Given the description of an element on the screen output the (x, y) to click on. 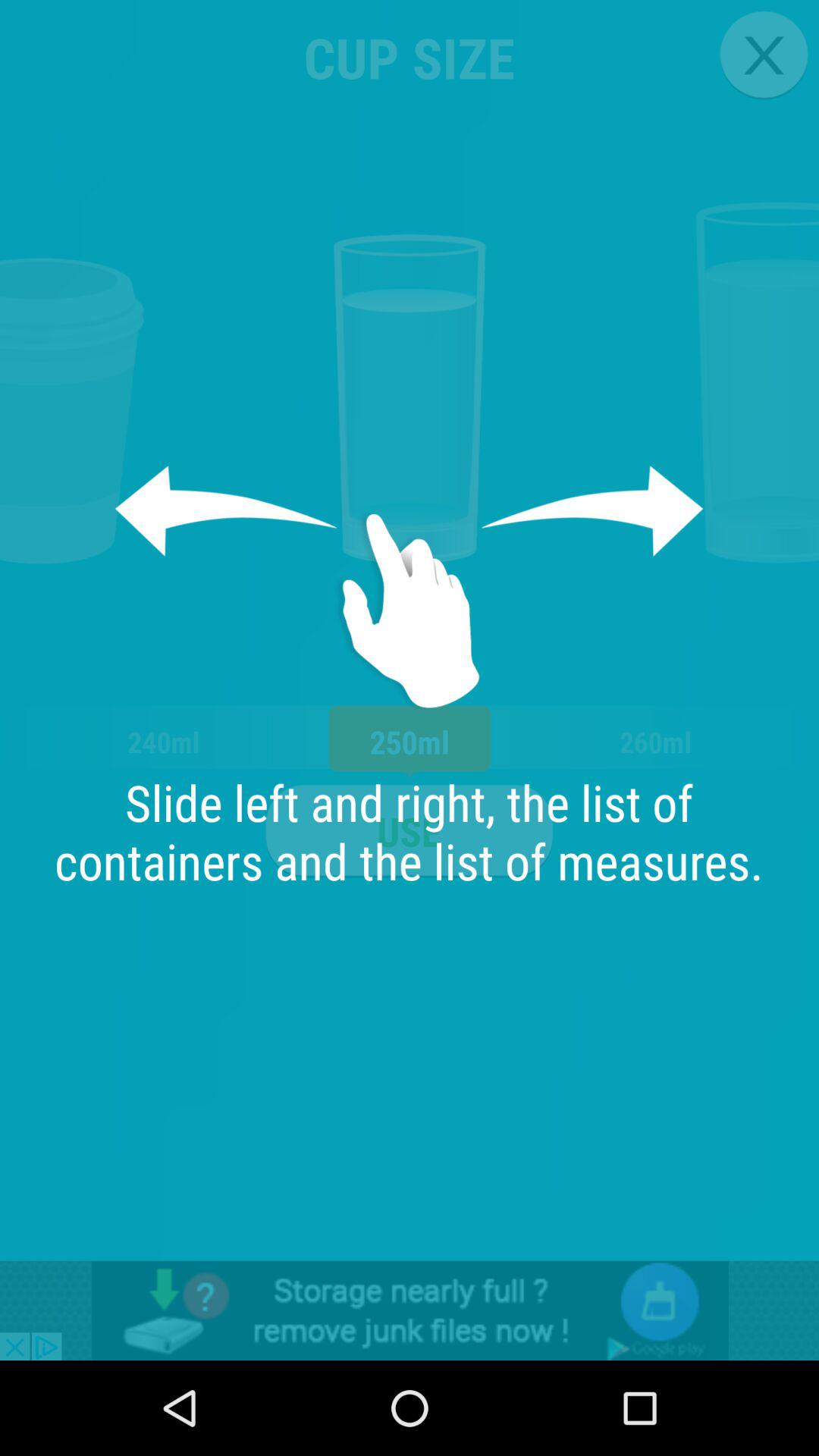
click app next to the cup size app (763, 55)
